Given the description of an element on the screen output the (x, y) to click on. 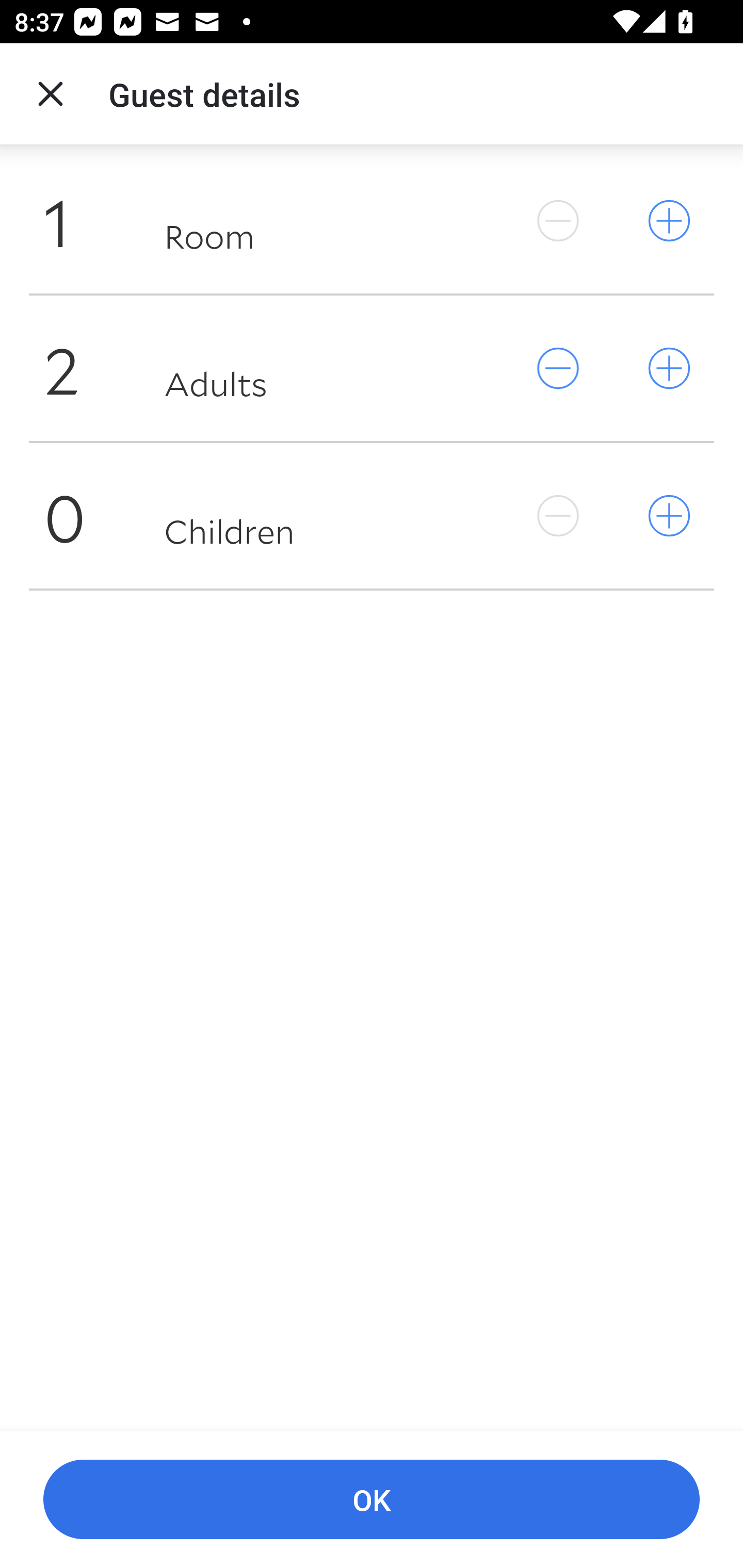
OK (371, 1499)
